Given the description of an element on the screen output the (x, y) to click on. 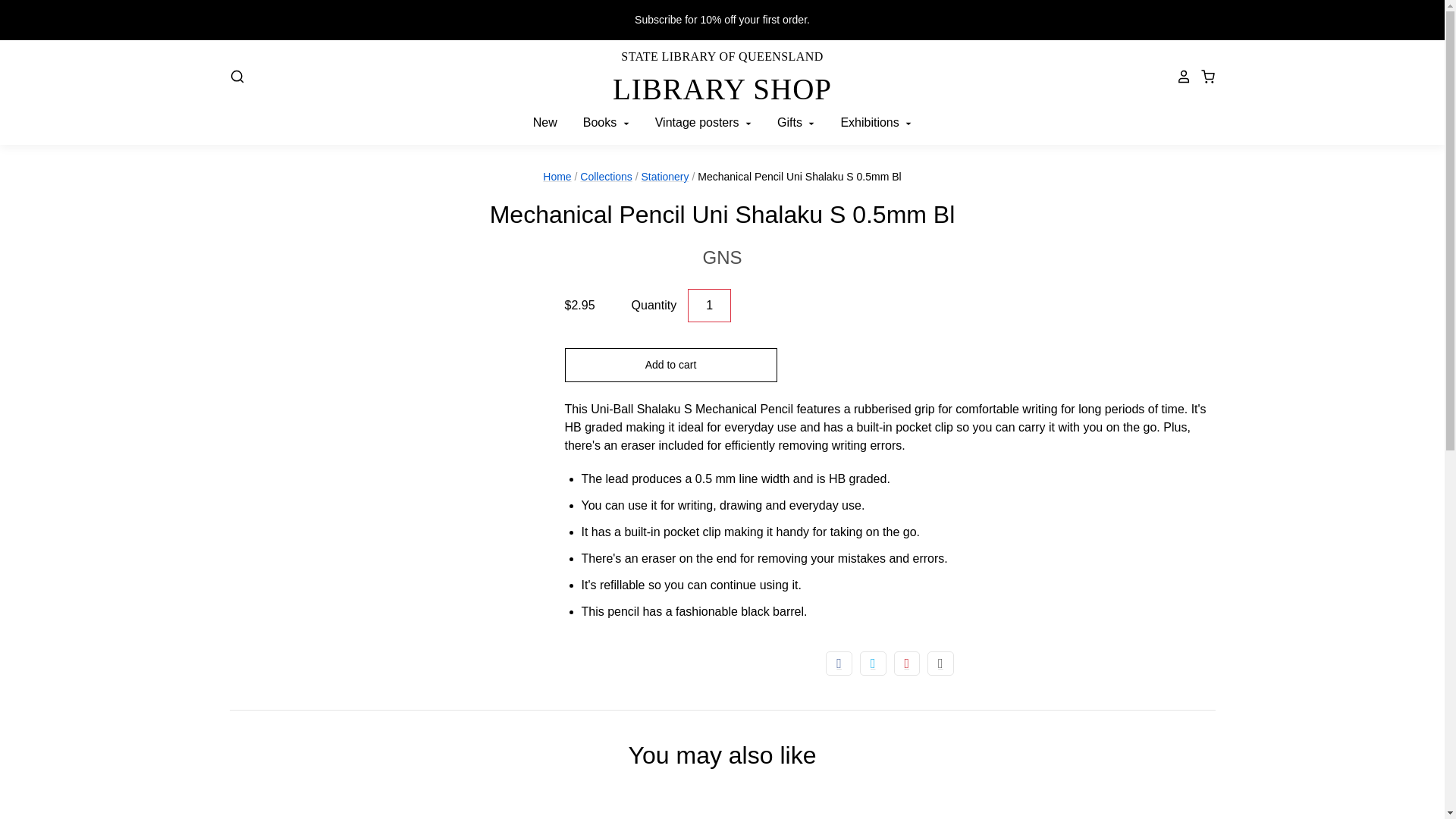
1 (721, 257)
Add to cart (709, 305)
